Given the description of an element on the screen output the (x, y) to click on. 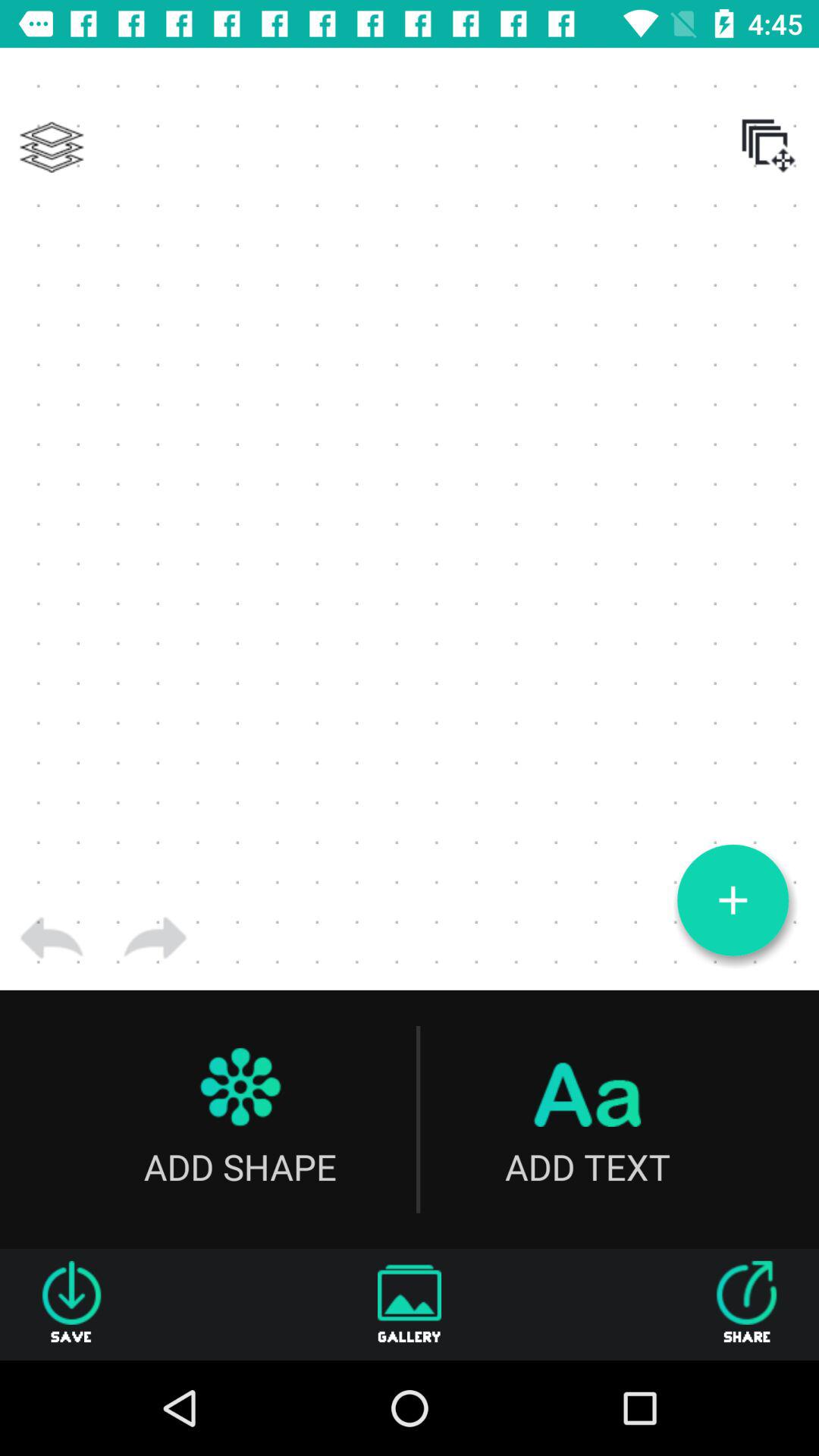
jump until add text item (587, 1119)
